Given the description of an element on the screen output the (x, y) to click on. 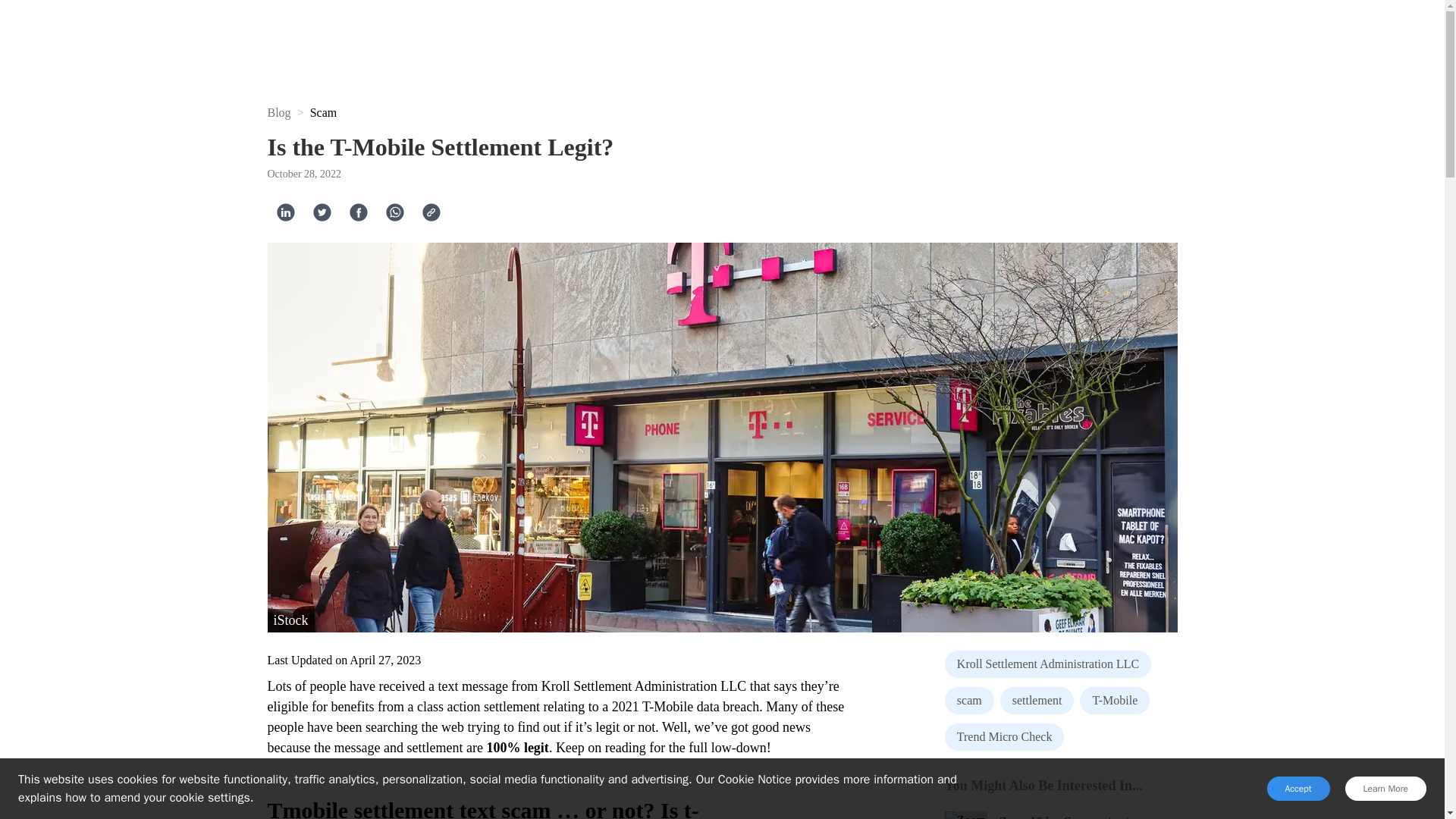
T-Mobile (1115, 700)
Blog (277, 112)
Share to WhatsApp (394, 212)
Kroll Settlement Administration LLC (1047, 664)
Scam (323, 112)
Trend Micro Check (1004, 737)
Share to LinkedIn (285, 212)
scam (969, 700)
settlement (1037, 700)
Share to Facebook (357, 212)
Share to Twitter (321, 212)
